Given the description of an element on the screen output the (x, y) to click on. 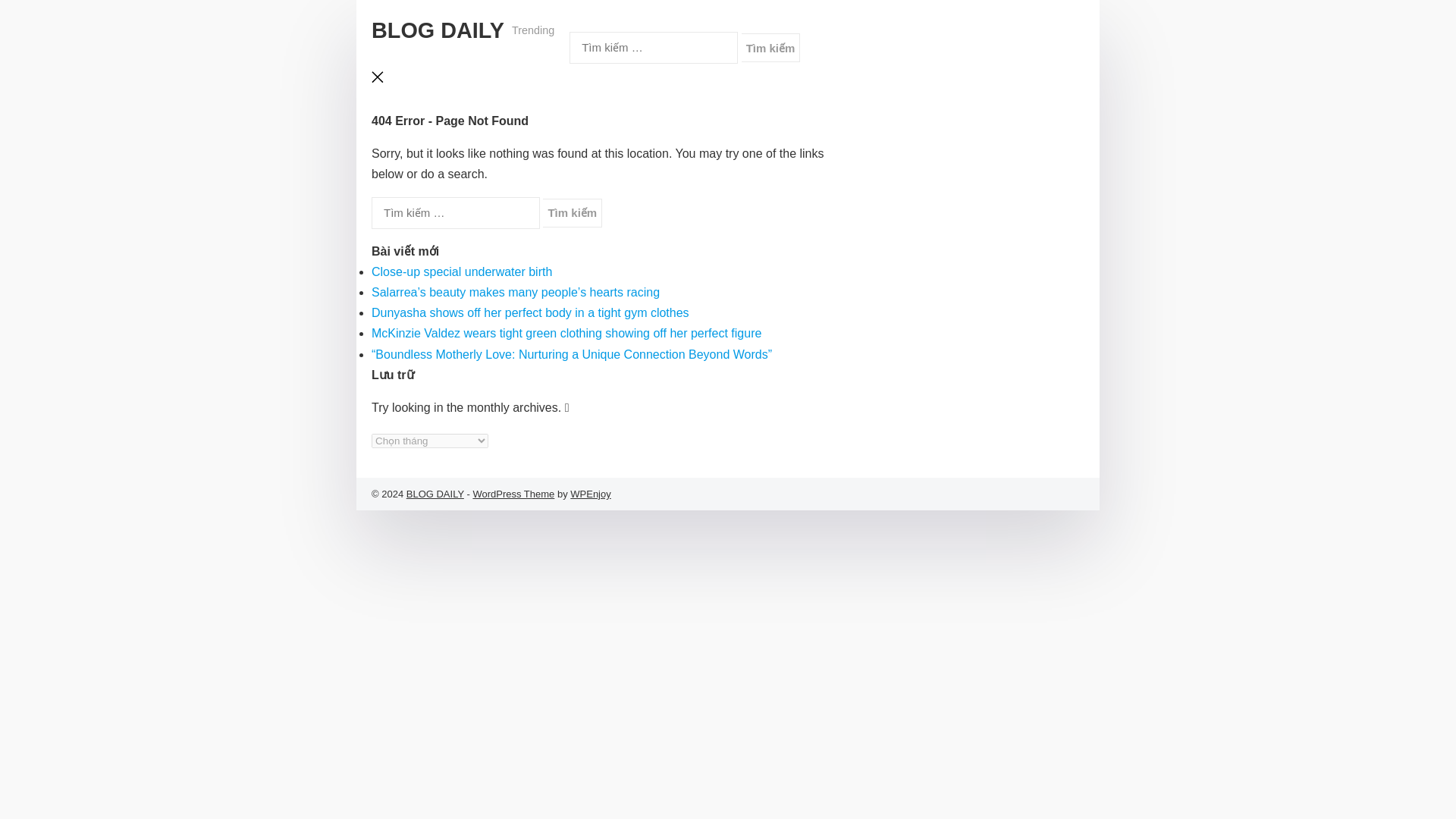
BLOG DAILY (437, 30)
Dunyasha shows off her perfect body in a tight gym clothes (529, 312)
BLOG DAILY (435, 493)
WordPress Theme (512, 493)
WPEnjoy (590, 493)
Close-up special underwater birth (461, 271)
